Given the description of an element on the screen output the (x, y) to click on. 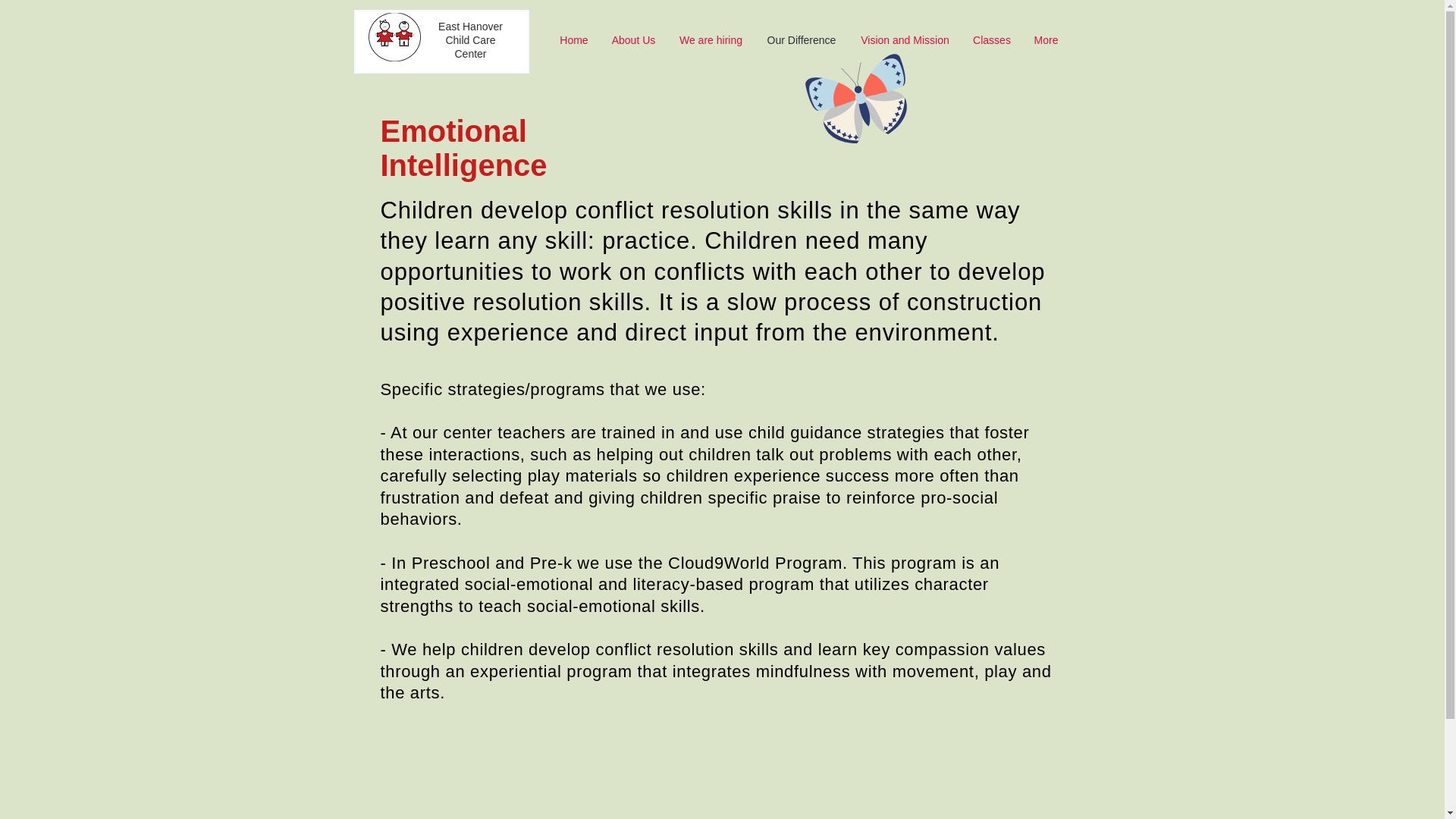
Home (573, 39)
We are hiring (710, 39)
Our Difference (801, 39)
Vision and Mission (904, 39)
Classes (991, 39)
East Hanover Child Care Center (470, 39)
About Us (632, 39)
